Given the description of an element on the screen output the (x, y) to click on. 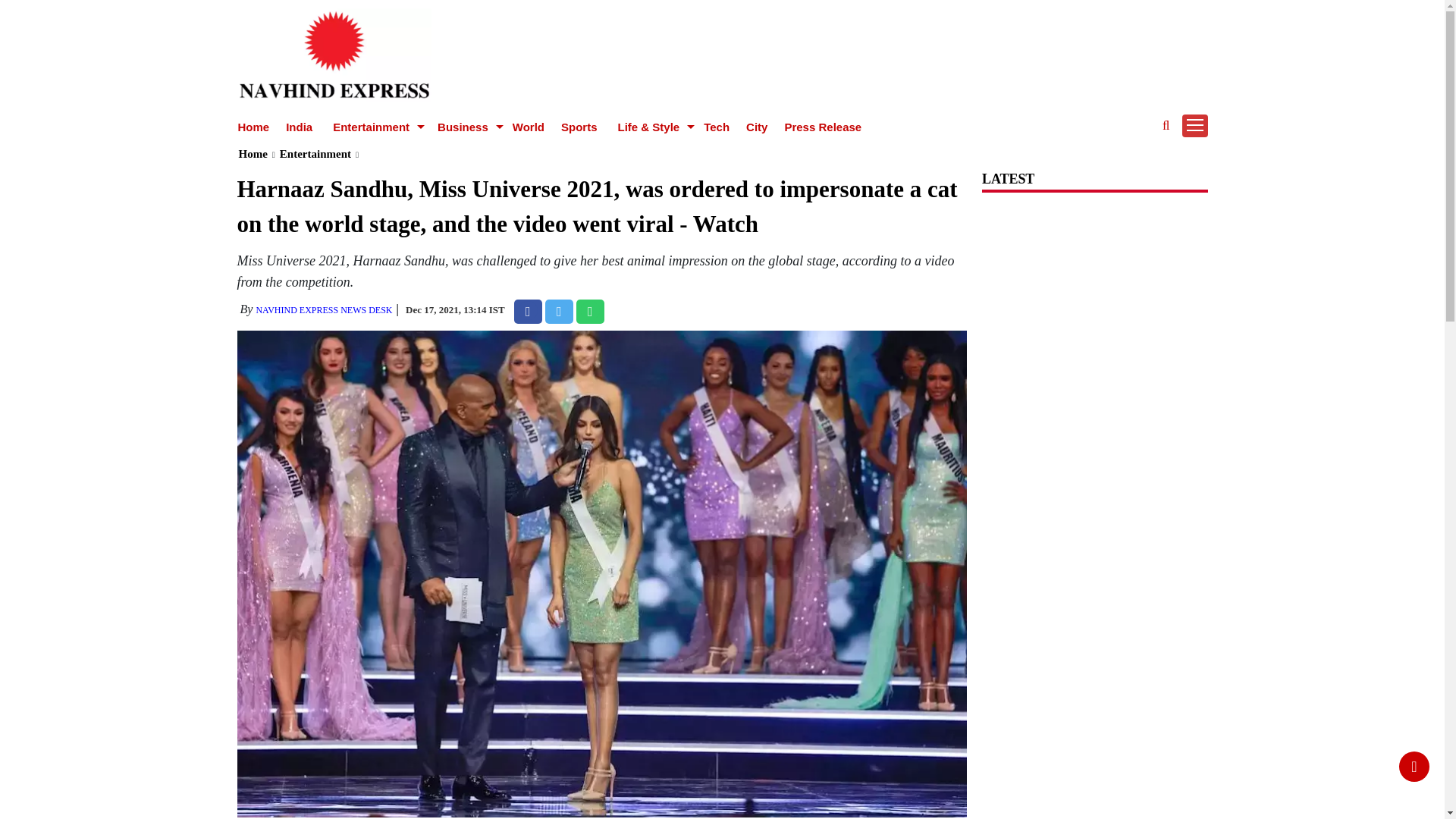
Entertainment (372, 126)
India (299, 126)
Home (253, 126)
City (756, 126)
Business (464, 126)
World (528, 126)
Tech (716, 126)
Sports (578, 126)
Press Release (822, 126)
